Given the description of an element on the screen output the (x, y) to click on. 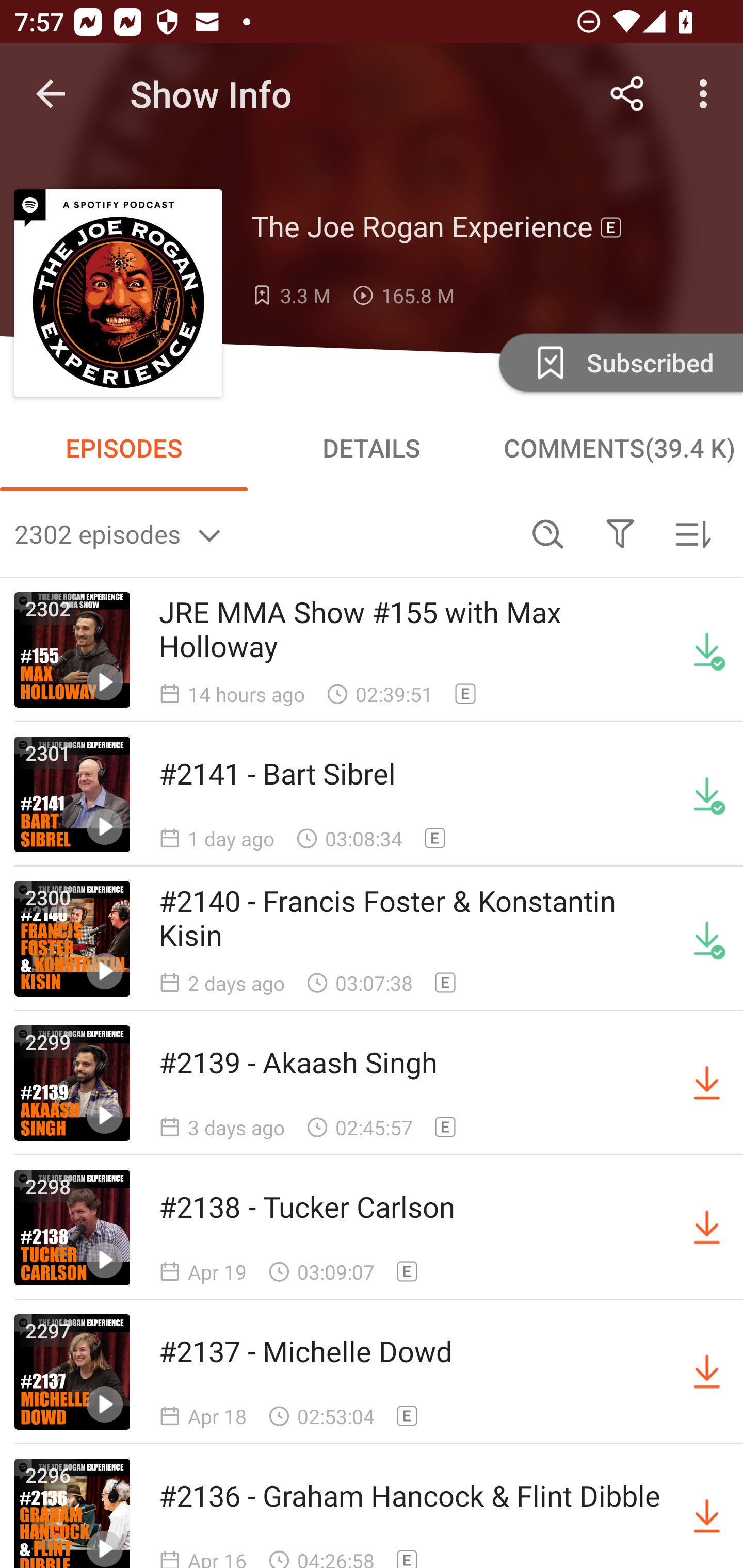
Navigate up (50, 93)
Share (626, 93)
More options (706, 93)
Unsubscribe Subscribed (619, 361)
EPISODES (123, 447)
DETAILS (371, 447)
COMMENTS(39.4 K) (619, 447)
2302 episodes  (262, 533)
 Search (547, 533)
 (619, 533)
 Sorted by newest first (692, 533)
Downloaded (706, 649)
Downloaded (706, 793)
